Given the description of an element on the screen output the (x, y) to click on. 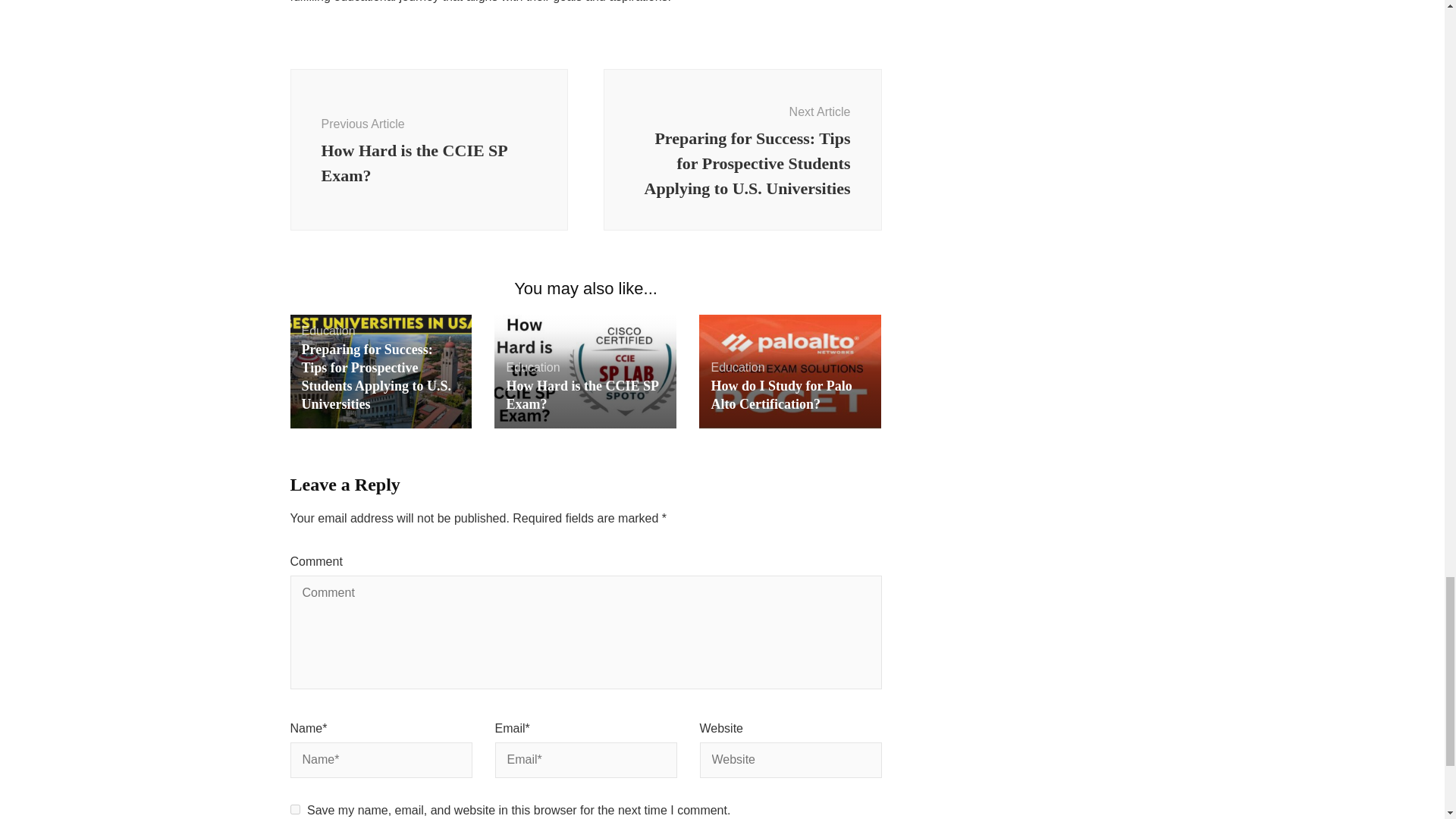
yes (294, 809)
